Given the description of an element on the screen output the (x, y) to click on. 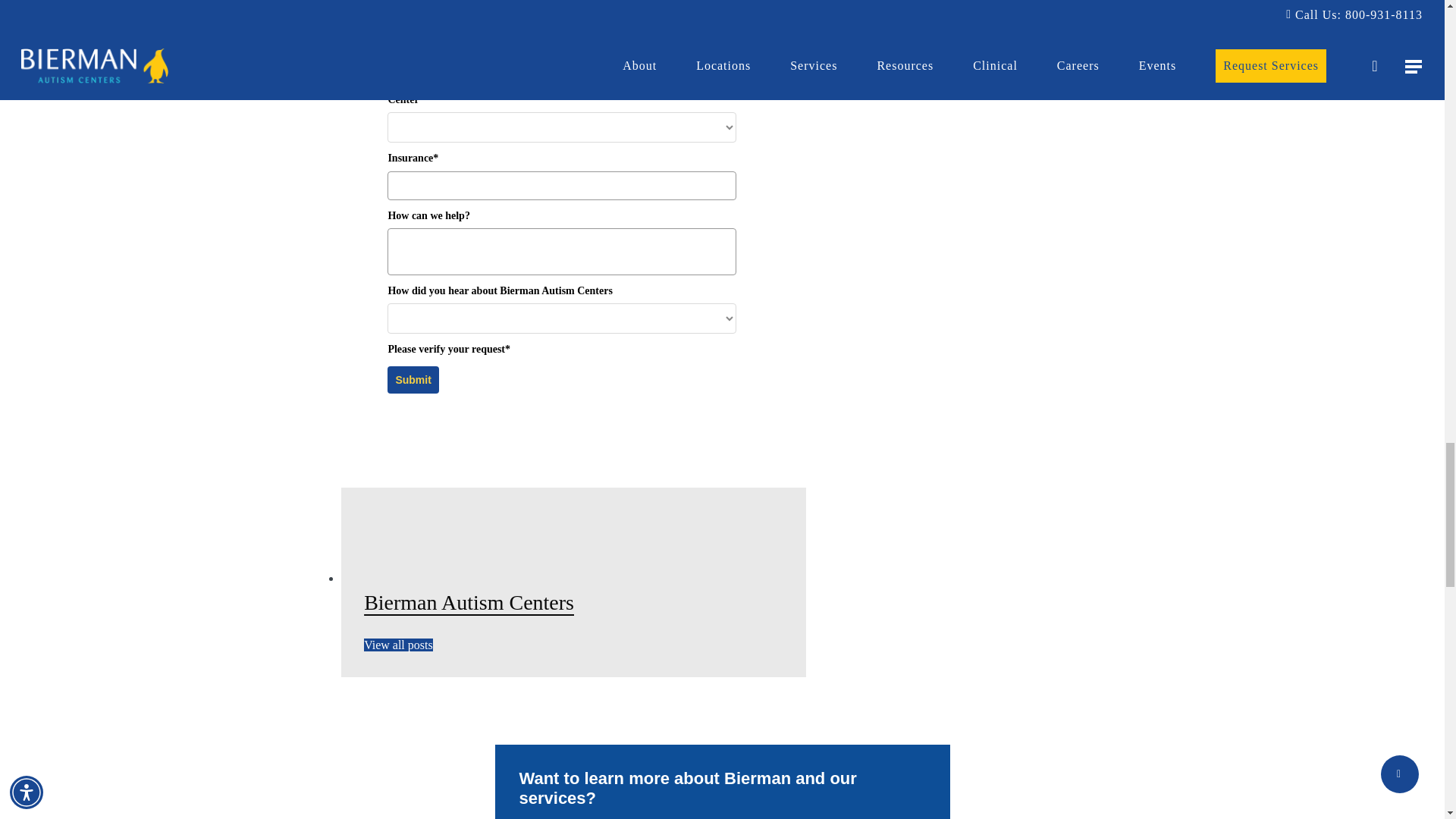
Bierman Autism Centers (468, 602)
View all posts (398, 644)
